Given the description of an element on the screen output the (x, y) to click on. 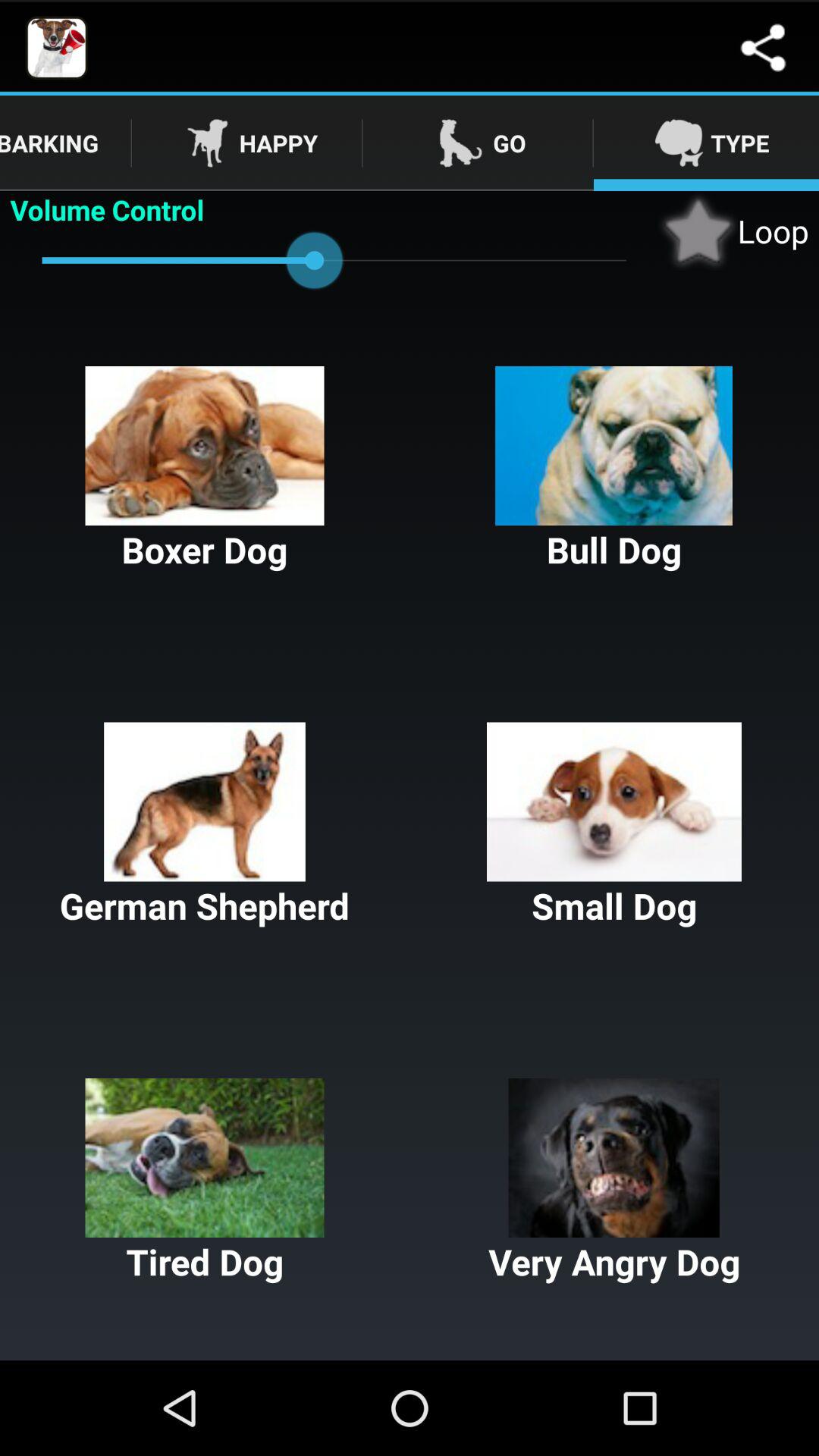
open boxer dog button (204, 469)
